Given the description of an element on the screen output the (x, y) to click on. 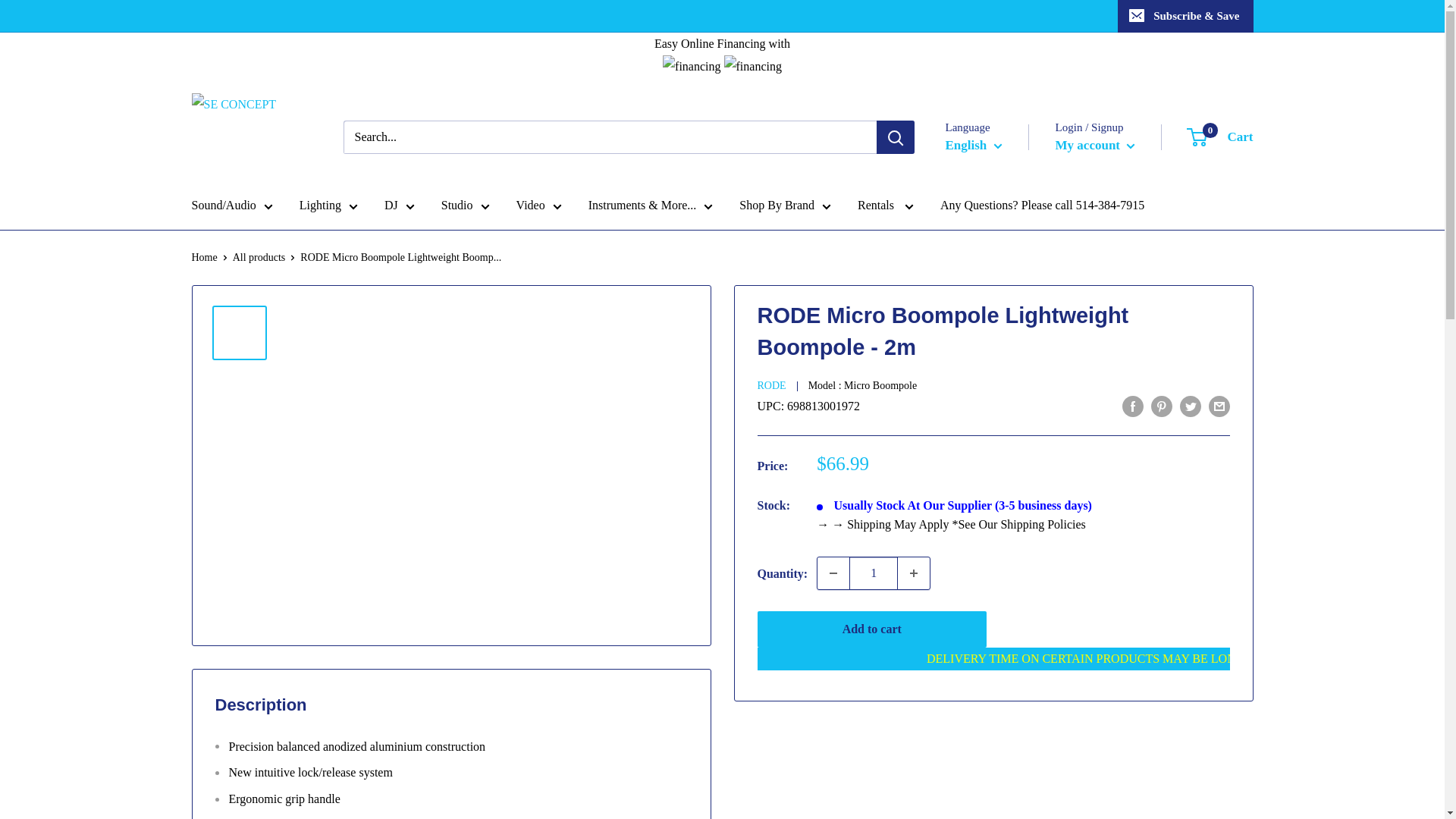
1 (873, 572)
Decrease quantity by 1 (832, 572)
Increase quantity by 1 (914, 572)
